Given the description of an element on the screen output the (x, y) to click on. 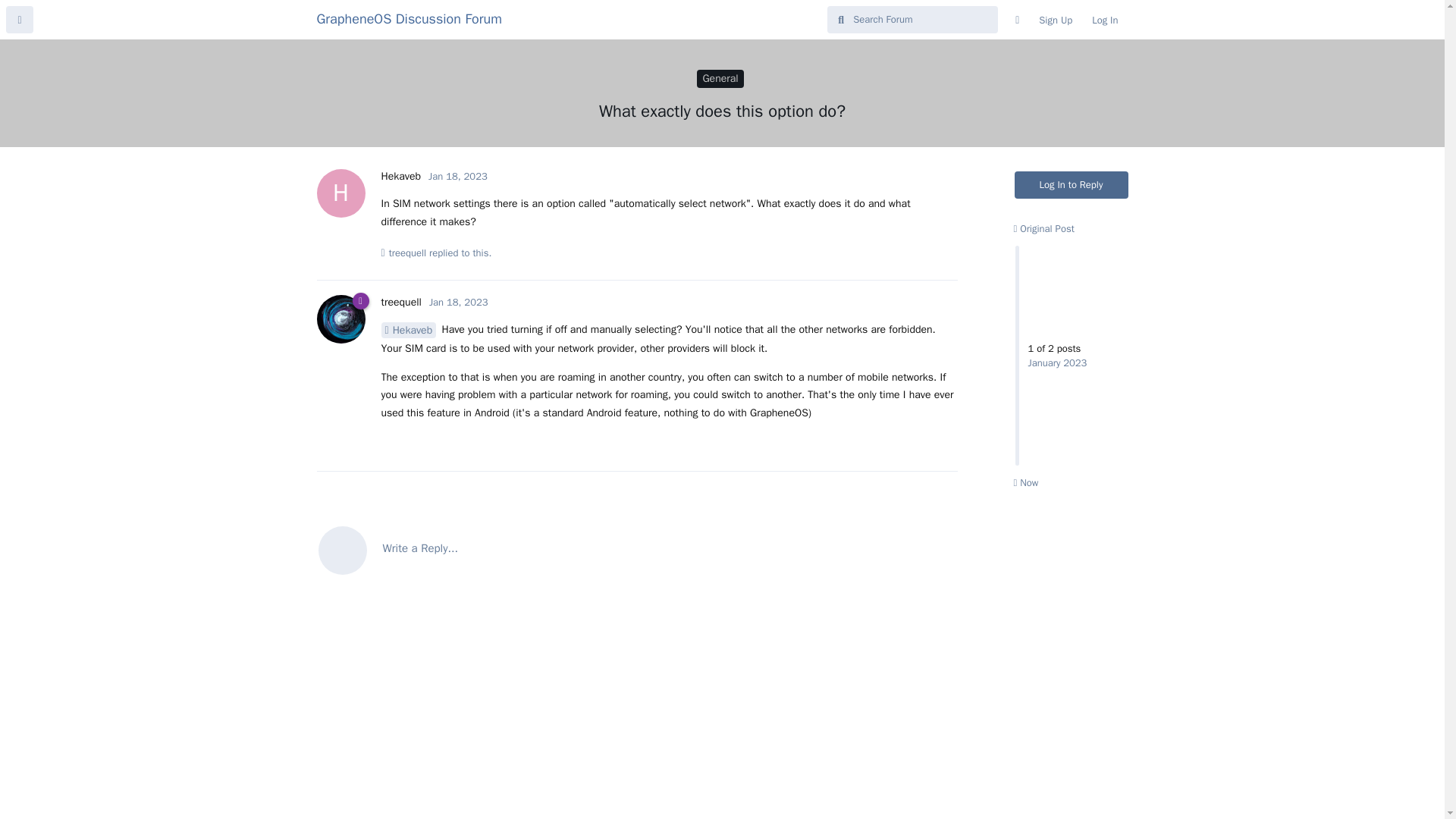
Sign Up (1055, 19)
treequell (407, 253)
Write a Reply... (636, 548)
GrapheneOS Discussion Forum (409, 18)
Now (1025, 481)
Jan 18, 2023 (458, 301)
General (719, 78)
Log In to Reply (1071, 185)
Wednesday, January 18, 2023 10:04 PM (458, 301)
treequell (400, 301)
